Given the description of an element on the screen output the (x, y) to click on. 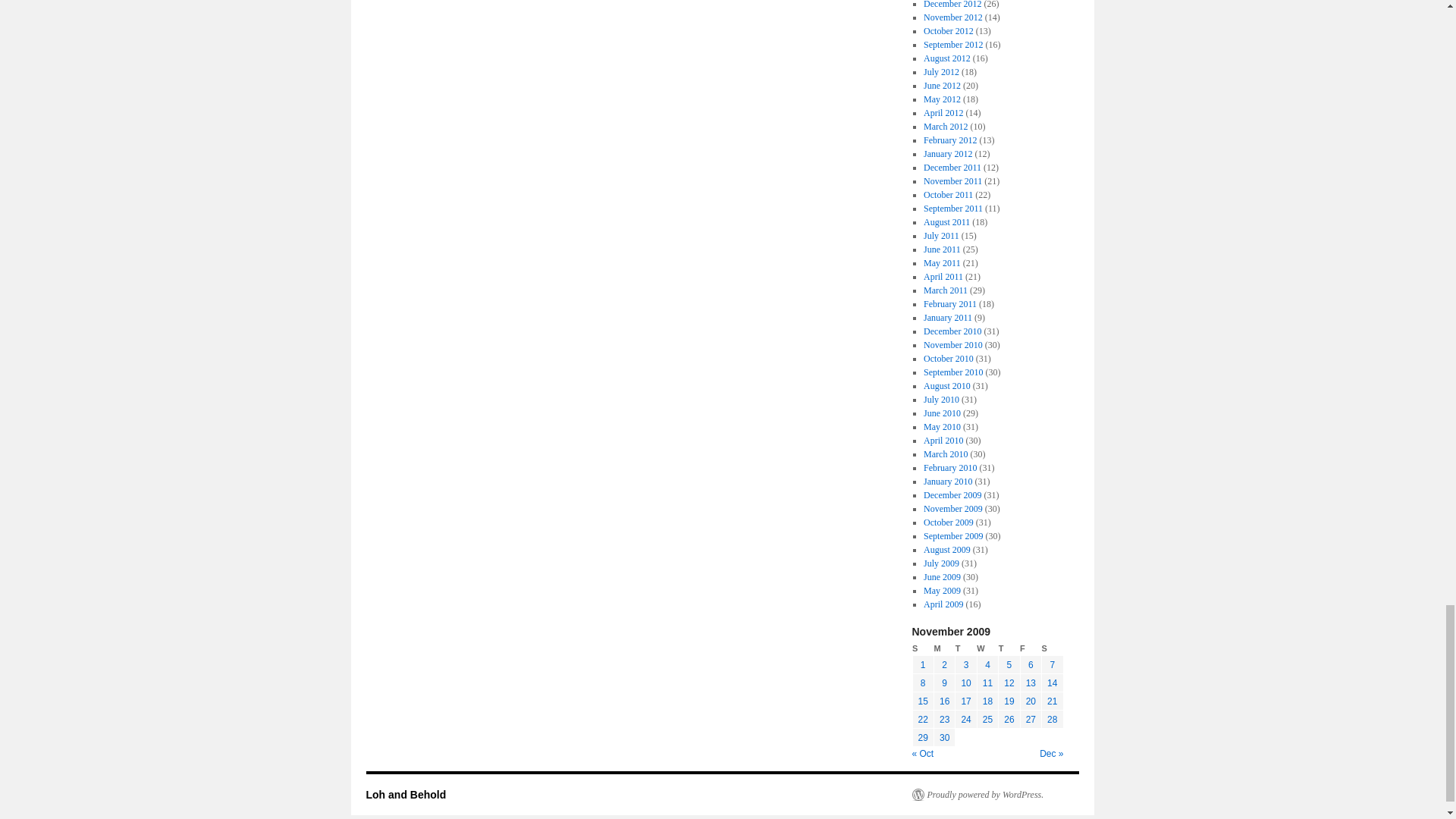
Thursday (1009, 648)
Sunday (922, 648)
Monday (944, 648)
Semantic Personal Publishing Platform (977, 794)
Friday (1030, 648)
Tuesday (965, 648)
Wednesday (986, 648)
Saturday (1052, 648)
